Given the description of an element on the screen output the (x, y) to click on. 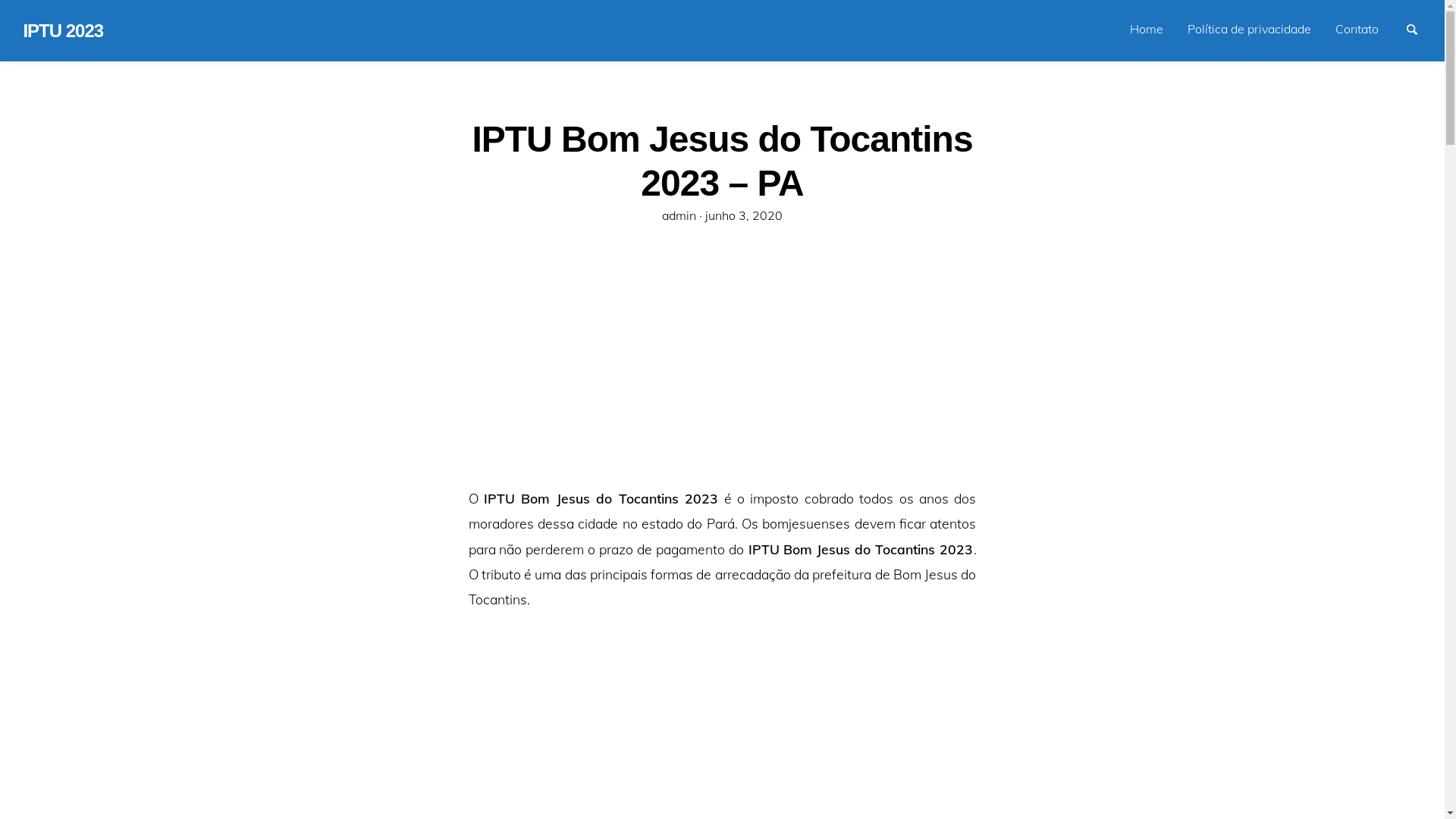
Contato Element type: text (1356, 28)
IPTU 2023 Element type: text (62, 32)
Home Element type: text (1146, 28)
Search Element type: text (1418, 27)
Advertisement Element type: hover (722, 372)
